Given the description of an element on the screen output the (x, y) to click on. 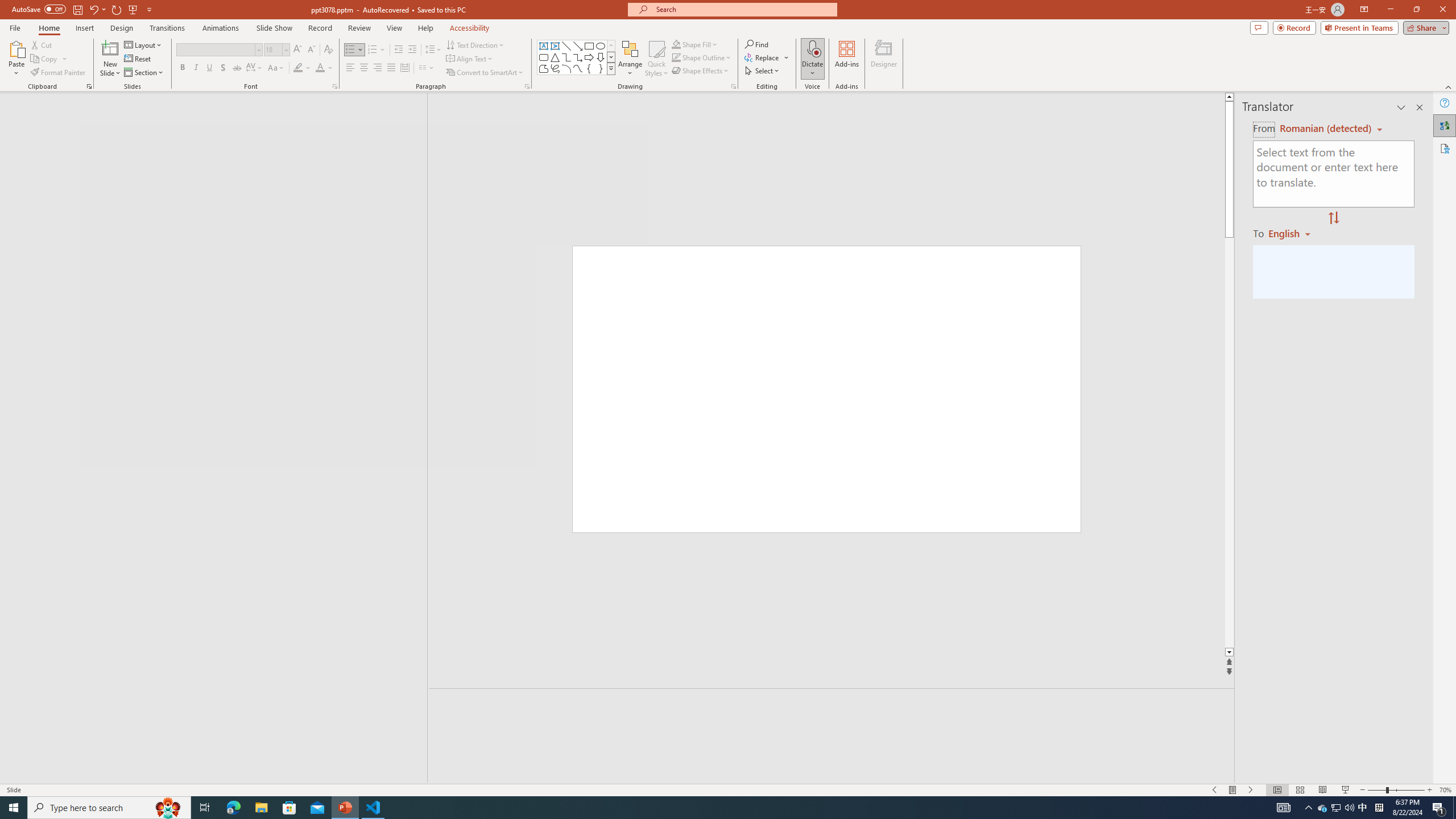
Dictate (812, 48)
Open (285, 49)
Select (762, 69)
Rectangle (589, 45)
Bullets (349, 49)
Reset (138, 58)
Align Left (349, 67)
Increase Indent (412, 49)
New Slide (110, 58)
Replace... (762, 56)
